Given the description of an element on the screen output the (x, y) to click on. 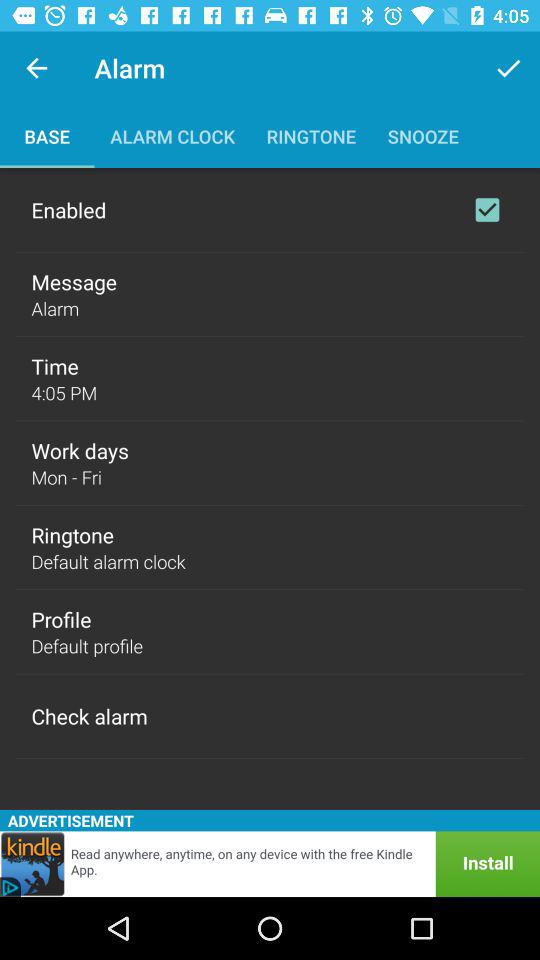
tap the app to the right of the alarm app (508, 67)
